Given the description of an element on the screen output the (x, y) to click on. 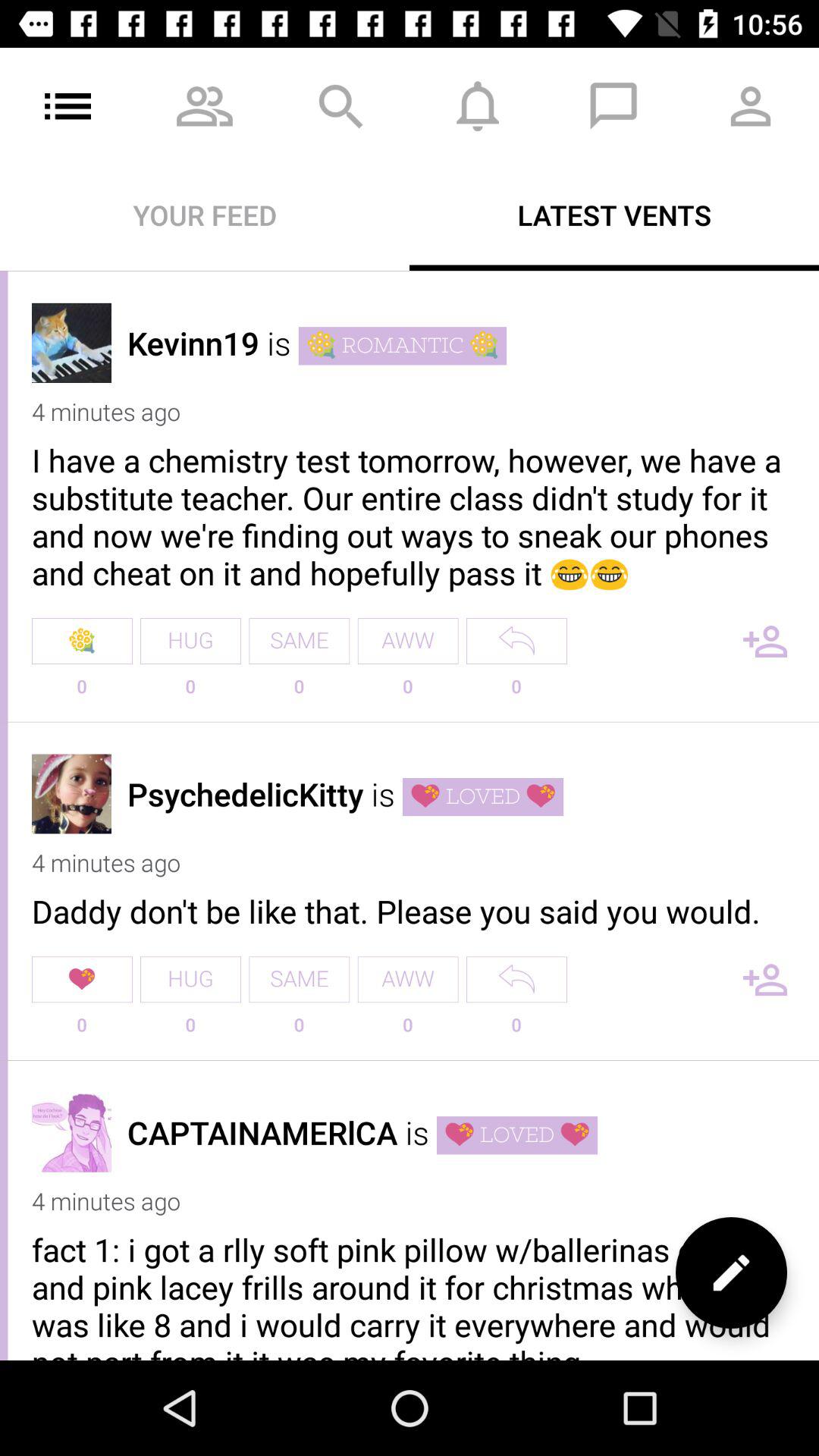
open profile (71, 1132)
